Given the description of an element on the screen output the (x, y) to click on. 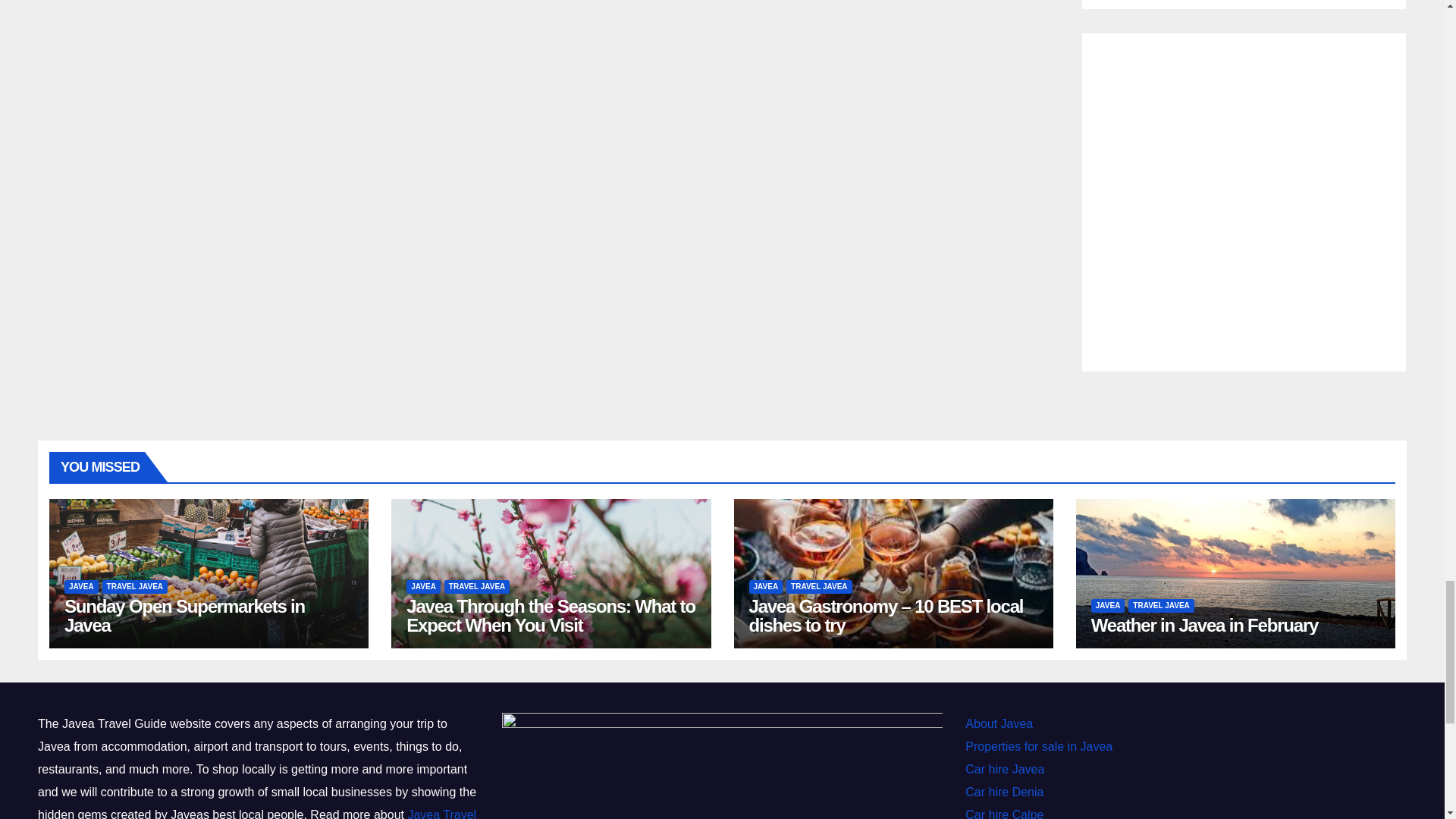
Permalink to: Weather in Javea in February (1203, 625)
Permalink to: Sunday Open Supermarkets in Javea (184, 615)
